Given the description of an element on the screen output the (x, y) to click on. 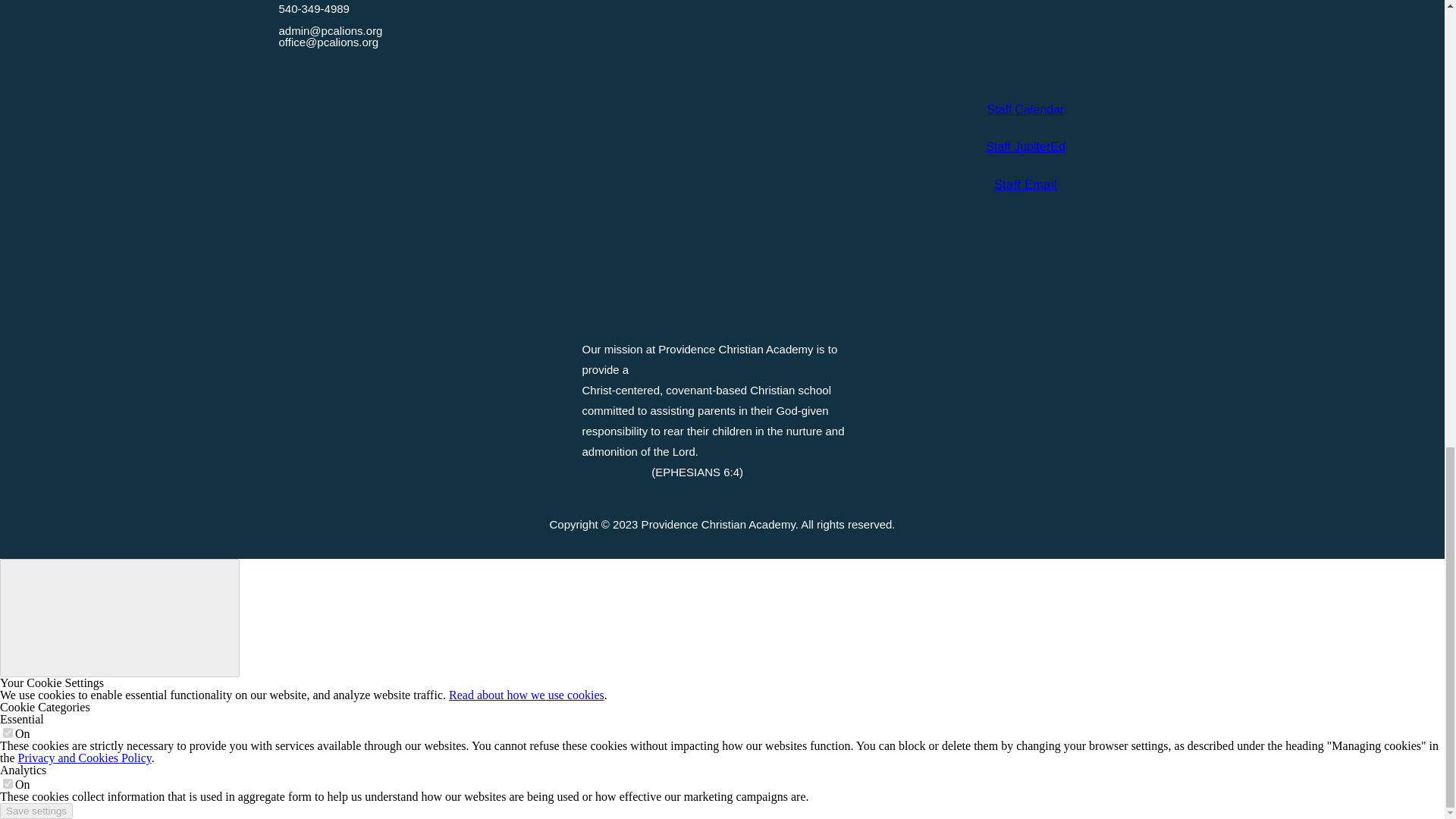
on (7, 732)
Privacy and Cookies Policy (84, 757)
Staff Email (1025, 184)
Read about how we use cookies (526, 694)
Staff JupiterEd (1025, 146)
Staff Calendar (1025, 109)
on (7, 783)
